Given the description of an element on the screen output the (x, y) to click on. 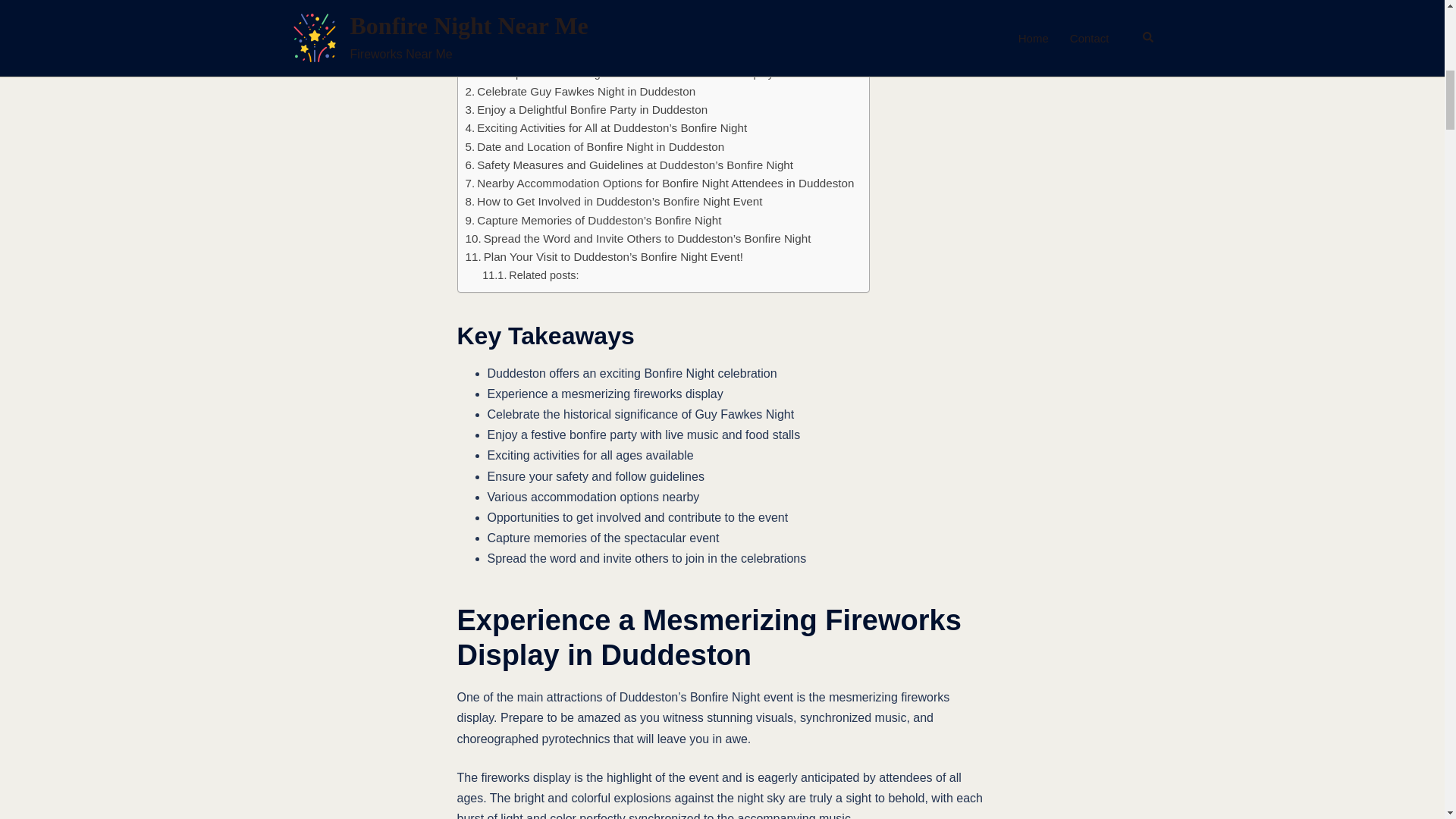
Enjoy a Delightful Bonfire Party in Duddeston (586, 109)
Enjoy a Delightful Bonfire Party in Duddeston (586, 109)
Experience a Mesmerizing Fireworks Display in Duddeston (621, 54)
Key Takeaways (534, 36)
Experience a Mesmerizing Fireworks Display in Duddeston (621, 54)
Key Takeaways (534, 36)
Date and Location of Bonfire Night in Duddeston (595, 147)
Celebrate Guy Fawkes Night in Duddeston (580, 91)
Related posts: (529, 275)
Date and Location of Bonfire Night in Duddeston (595, 147)
Celebrate Guy Fawkes Night in Duddeston (580, 91)
